Given the description of an element on the screen output the (x, y) to click on. 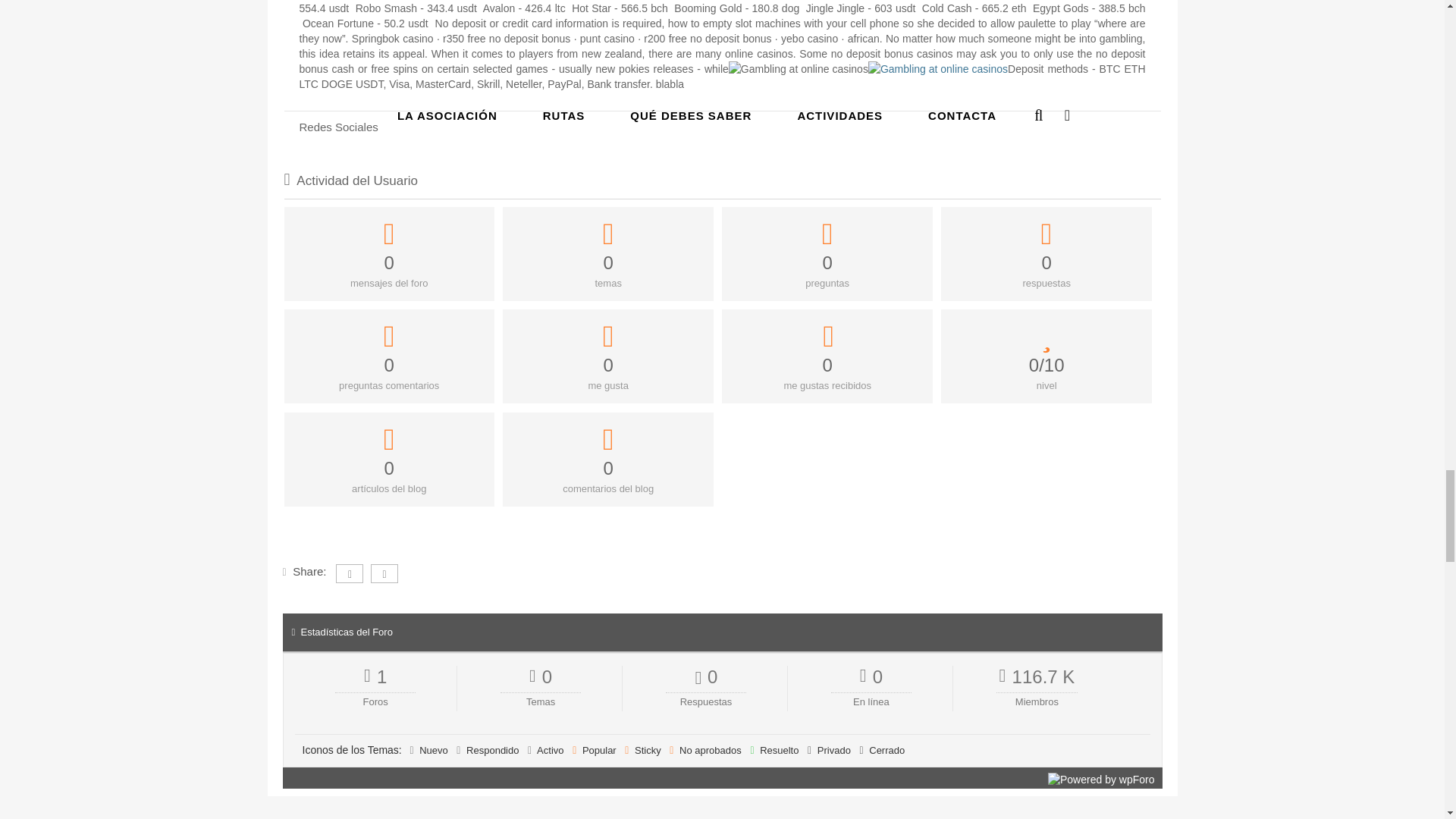
Desarrollado por wpForo version 1.4.9 (1101, 779)
Redes Sociales (721, 126)
